Given the description of an element on the screen output the (x, y) to click on. 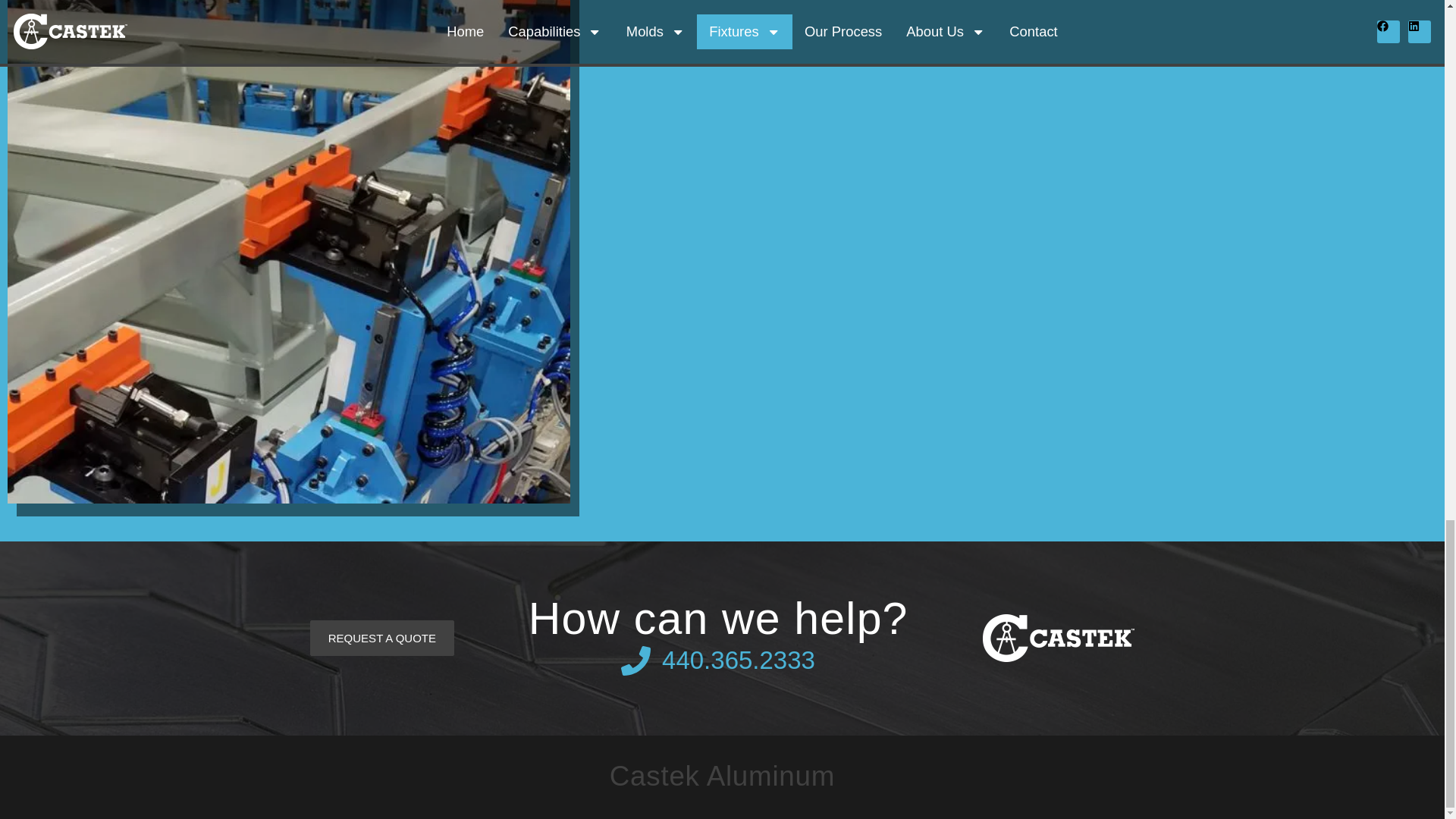
LOGO (1058, 637)
